Given the description of an element on the screen output the (x, y) to click on. 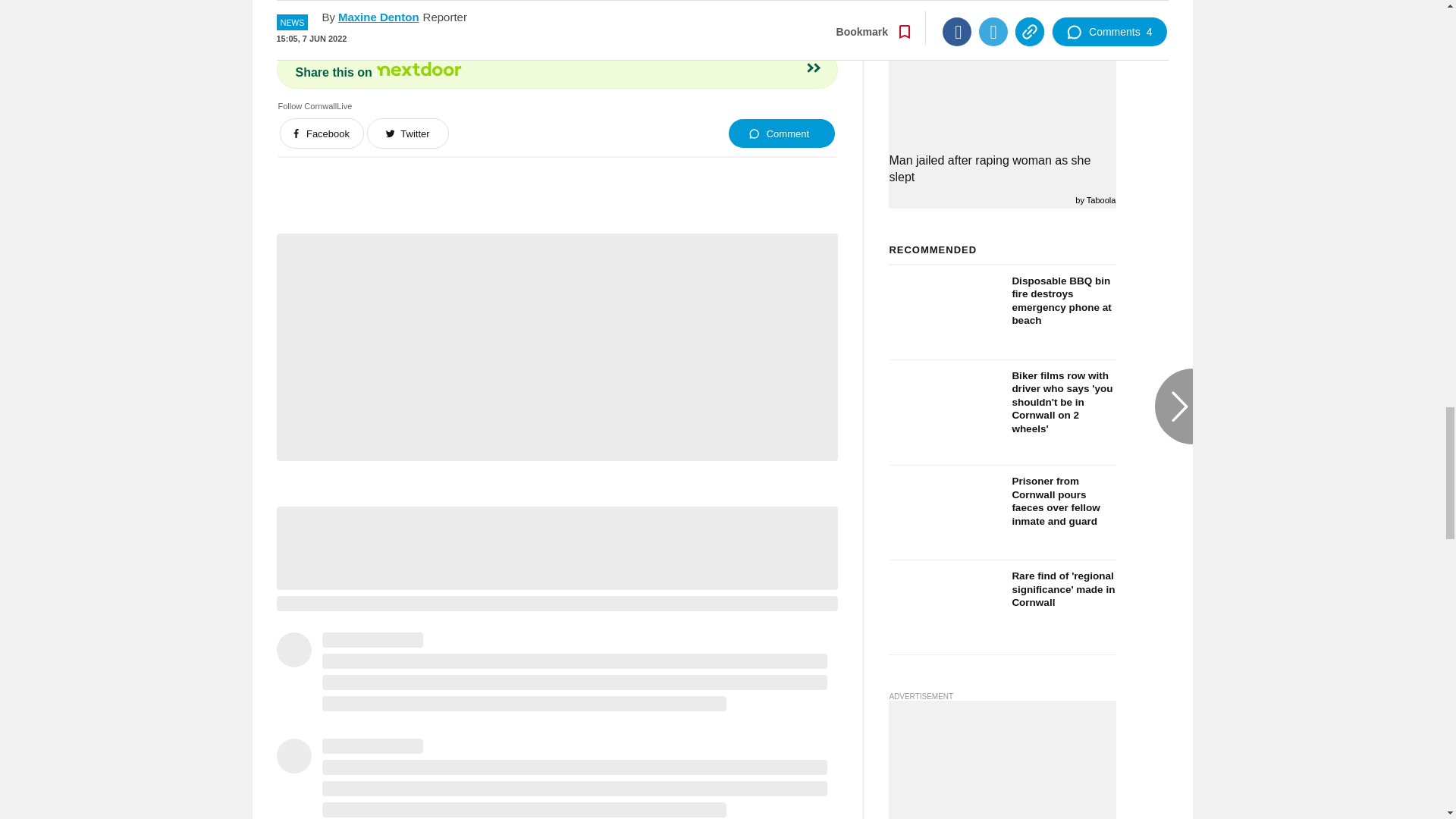
Jay Slater's body identified as cause of death is determined (1002, 8)
